Given the description of an element on the screen output the (x, y) to click on. 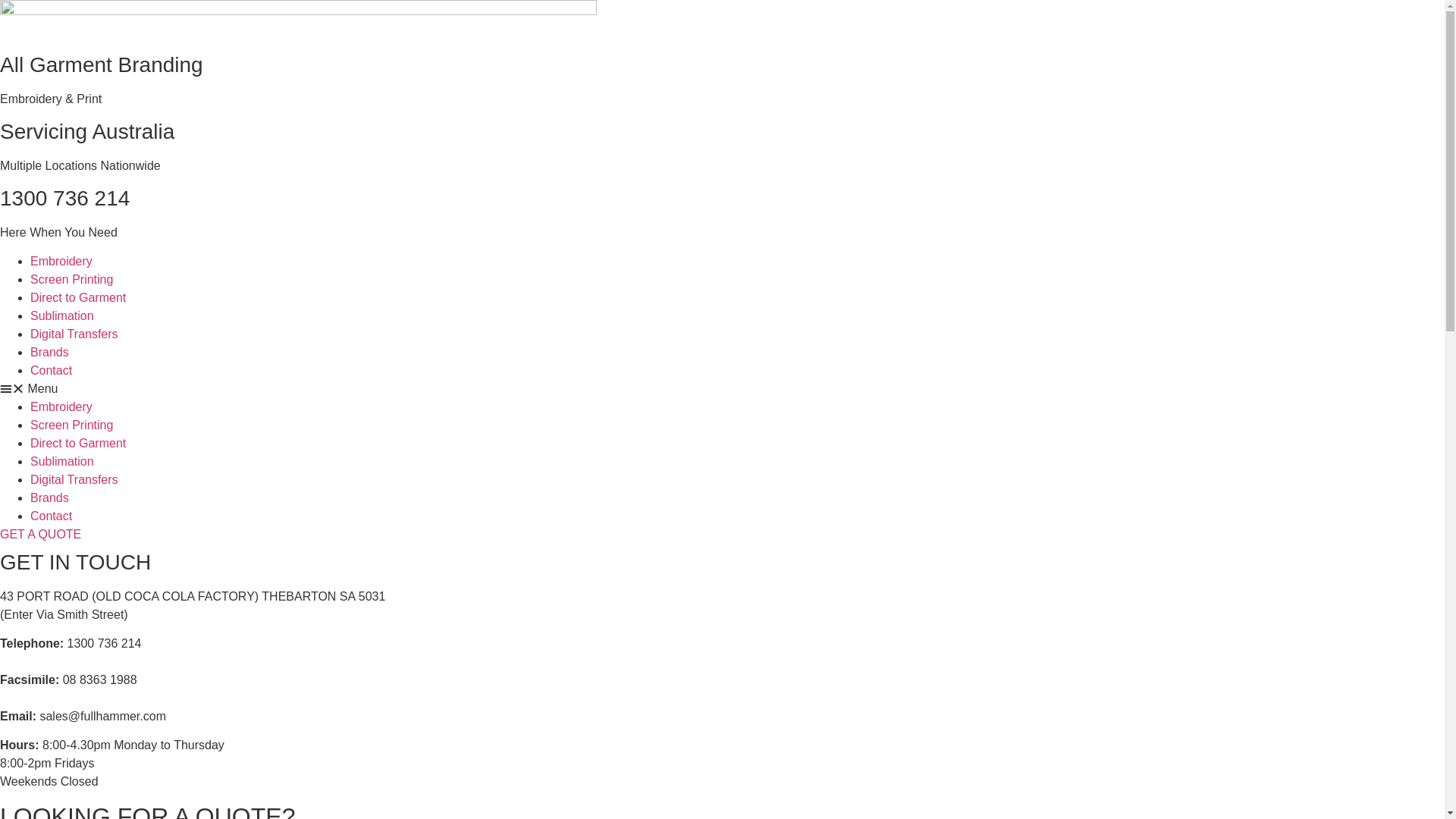
Direct to Garment Element type: text (77, 442)
Embroidery Element type: text (61, 260)
Contact Element type: text (51, 370)
GET A QUOTE Element type: text (40, 533)
Sublimation Element type: text (62, 315)
Brands Element type: text (49, 351)
Sublimation Element type: text (62, 461)
Contact Element type: text (51, 515)
Brands Element type: text (49, 497)
Direct to Garment Element type: text (77, 297)
Screen Printing Element type: text (71, 424)
Screen Printing Element type: text (71, 279)
Digital Transfers Element type: text (74, 479)
Digital Transfers Element type: text (74, 333)
Embroidery Element type: text (61, 406)
